Given the description of an element on the screen output the (x, y) to click on. 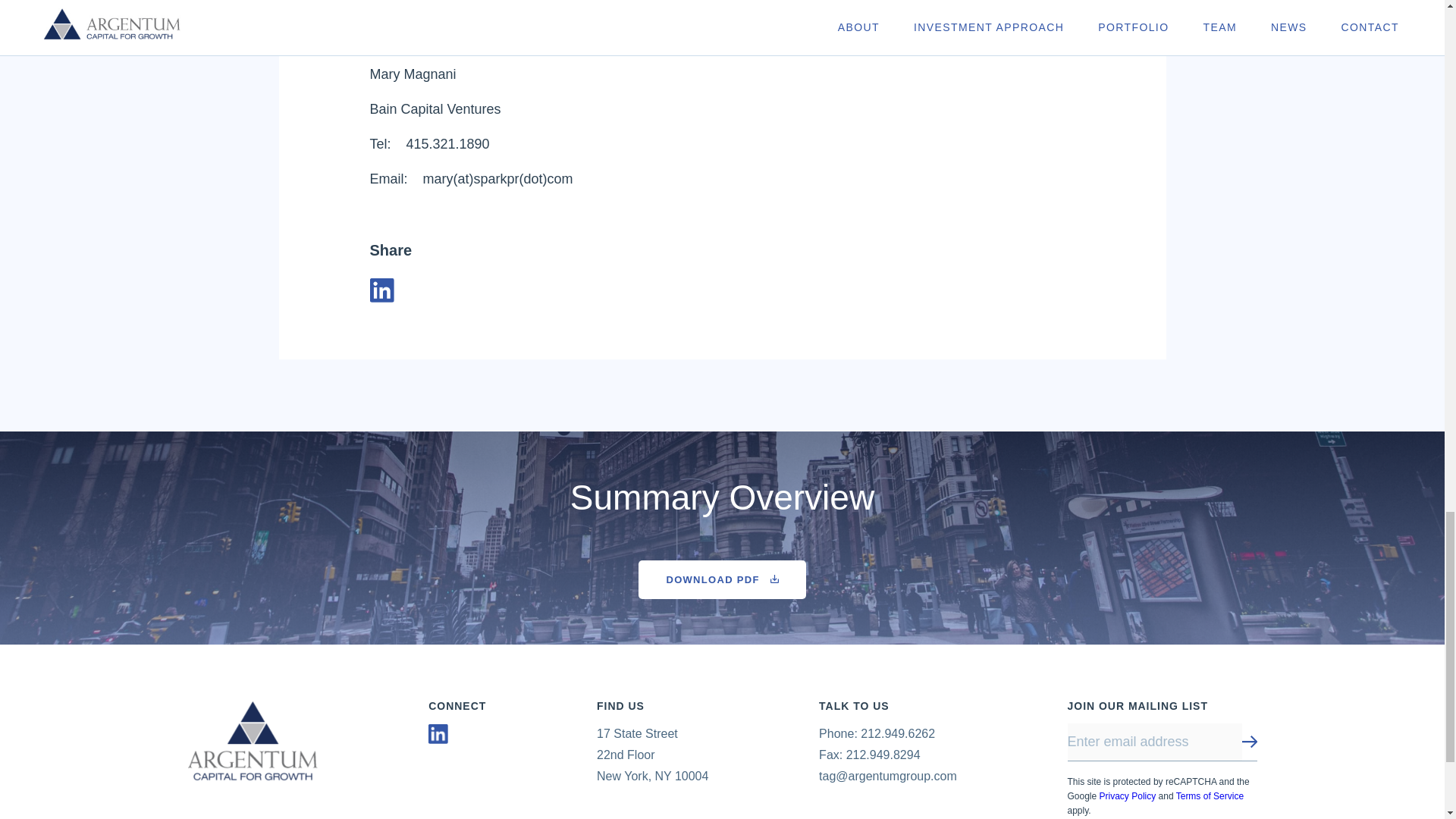
DOWNLOAD PDF (722, 579)
Privacy Policy (1127, 796)
Terms of Service (1209, 796)
Send (1249, 743)
212.949.6262 (897, 733)
